Given the description of an element on the screen output the (x, y) to click on. 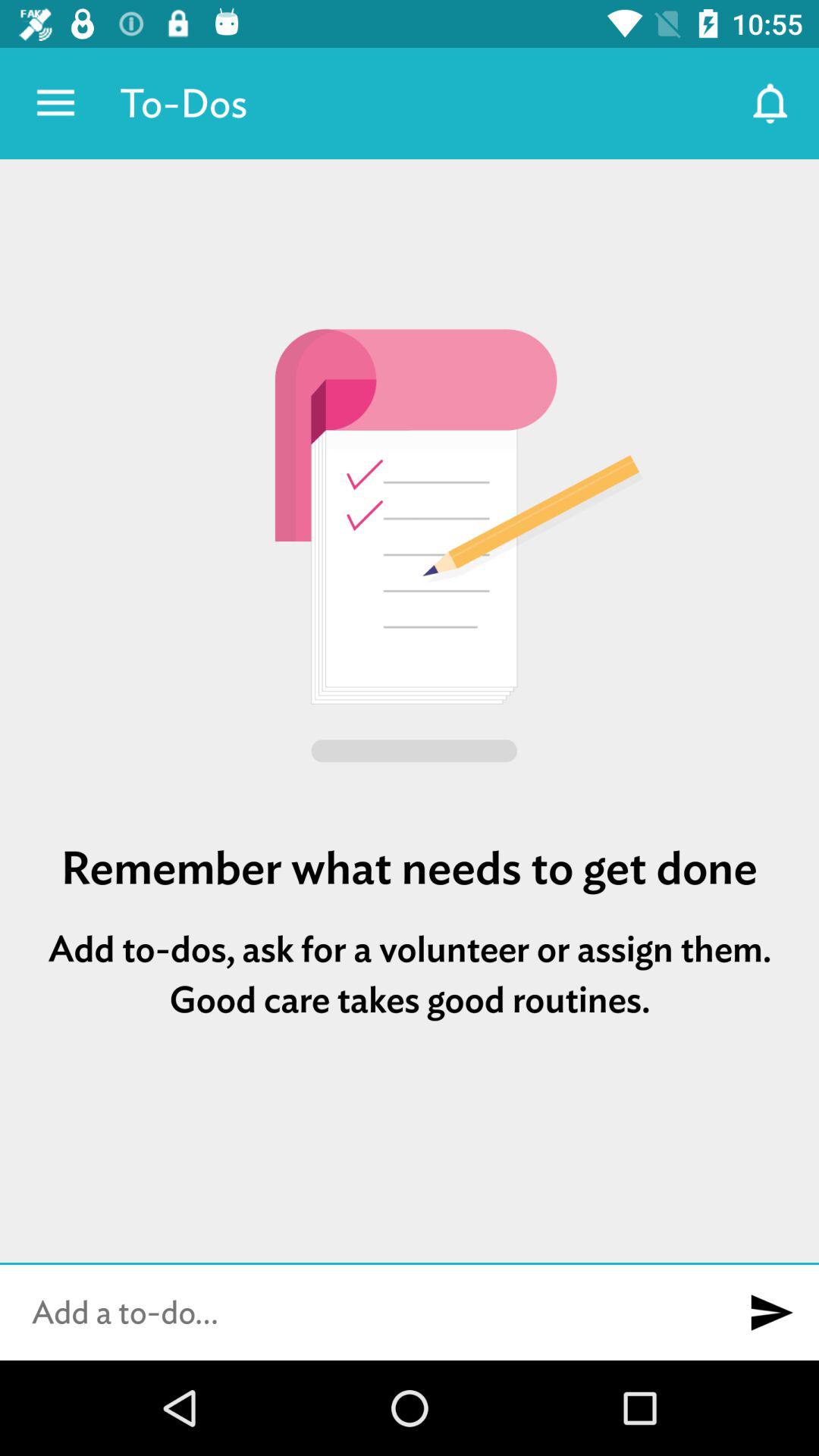
open box to add to list (361, 1312)
